Given the description of an element on the screen output the (x, y) to click on. 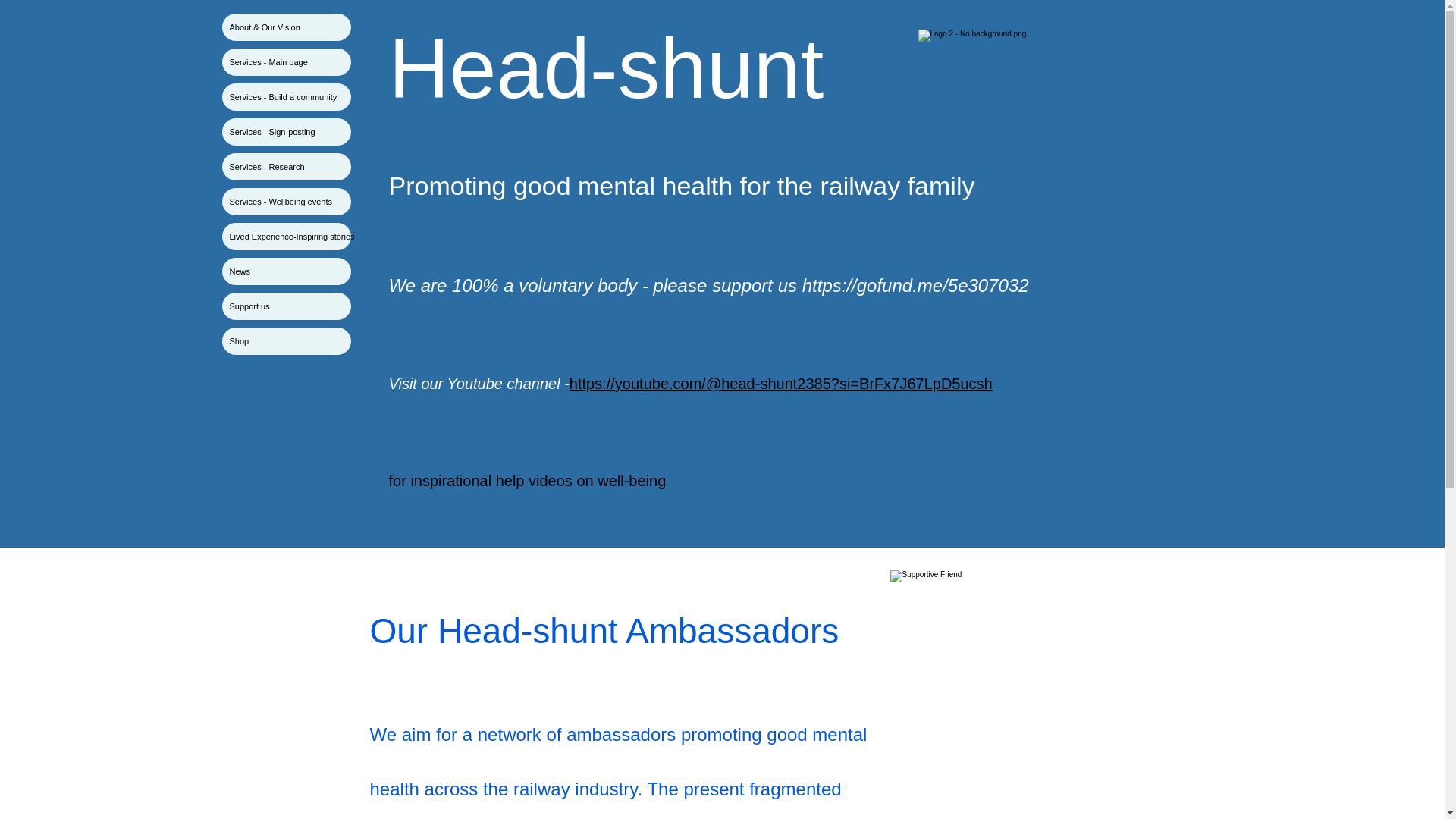
Support us (285, 306)
Services - Main page (285, 62)
Services - Sign-posting (285, 131)
Services - Research (285, 166)
News (285, 271)
Services - Build a community (285, 96)
Shop (285, 340)
Screenshot 2022-01-19 3.09.05 PM.png (979, 86)
Services - Wellbeing events (285, 201)
Lived Experience-Inspiring stories (285, 236)
